Given the description of an element on the screen output the (x, y) to click on. 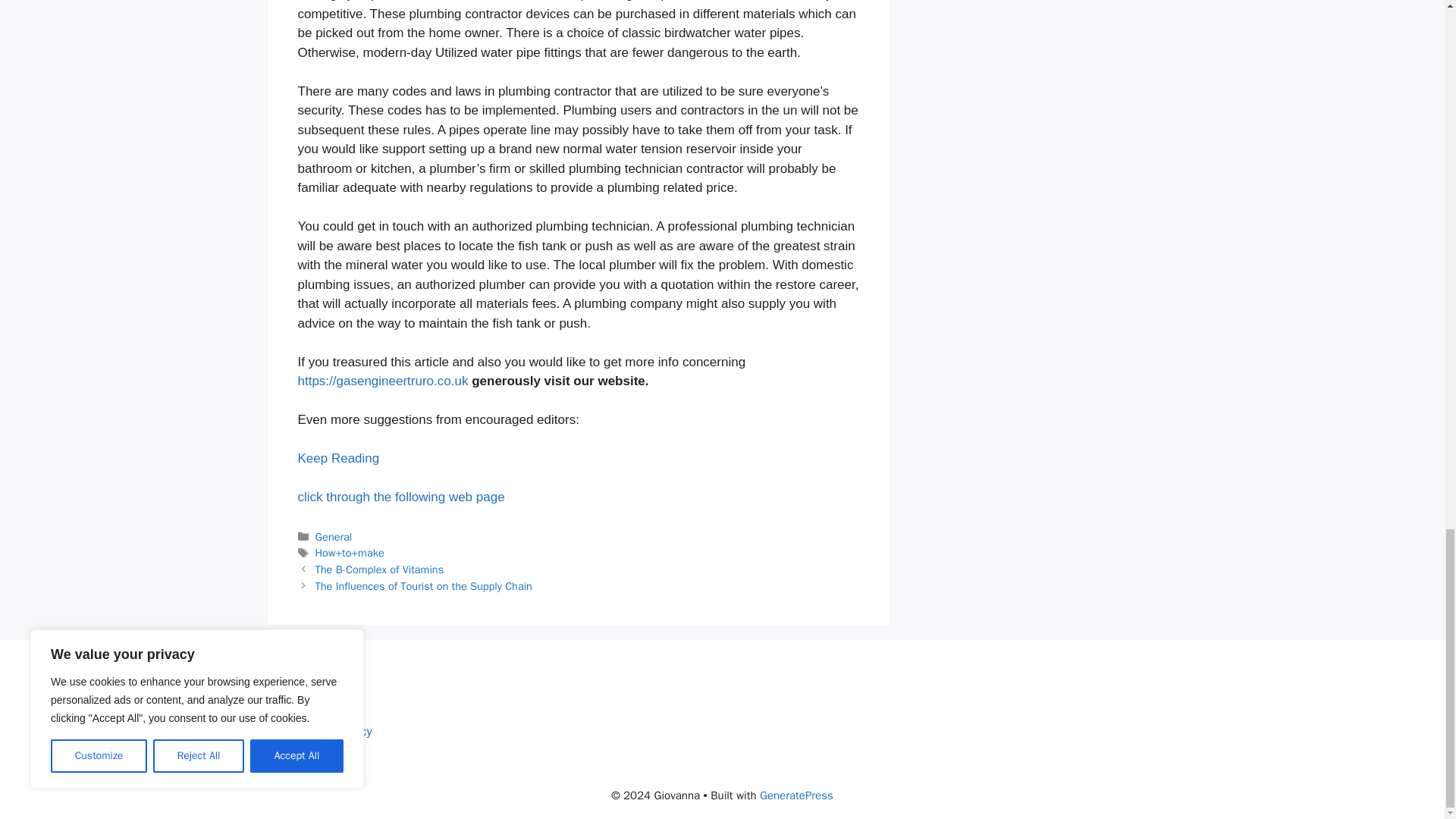
click through the following web page (400, 496)
General (333, 536)
Keep Reading (337, 458)
The Influences of Tourist on the Supply Chain (423, 585)
The B-Complex of Vitamins (379, 569)
